Given the description of an element on the screen output the (x, y) to click on. 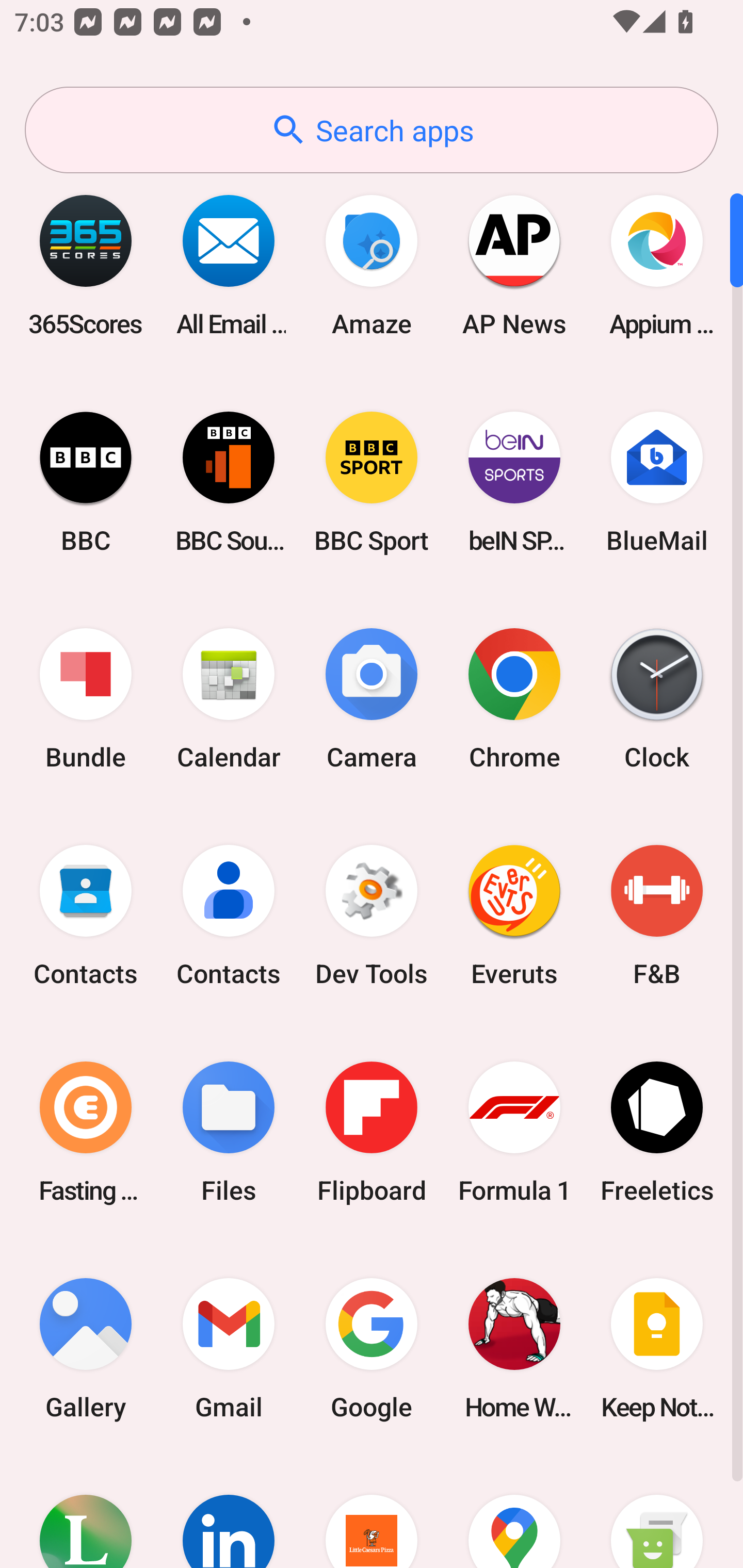
  Search apps (371, 130)
365Scores (85, 264)
All Email Connect (228, 264)
Amaze (371, 264)
AP News (514, 264)
Appium Settings (656, 264)
BBC (85, 482)
BBC Sounds (228, 482)
BBC Sport (371, 482)
beIN SPORTS (514, 482)
BlueMail (656, 482)
Bundle (85, 699)
Calendar (228, 699)
Camera (371, 699)
Chrome (514, 699)
Clock (656, 699)
Contacts (85, 915)
Contacts (228, 915)
Dev Tools (371, 915)
Everuts (514, 915)
F&B (656, 915)
Fasting Coach (85, 1131)
Files (228, 1131)
Flipboard (371, 1131)
Formula 1 (514, 1131)
Freeletics (656, 1131)
Gallery (85, 1348)
Gmail (228, 1348)
Google (371, 1348)
Home Workout (514, 1348)
Keep Notes (656, 1348)
Lifesum (85, 1512)
LinkedIn (228, 1512)
Little Caesars Pizza (371, 1512)
Maps (514, 1512)
Messaging (656, 1512)
